Given the description of an element on the screen output the (x, y) to click on. 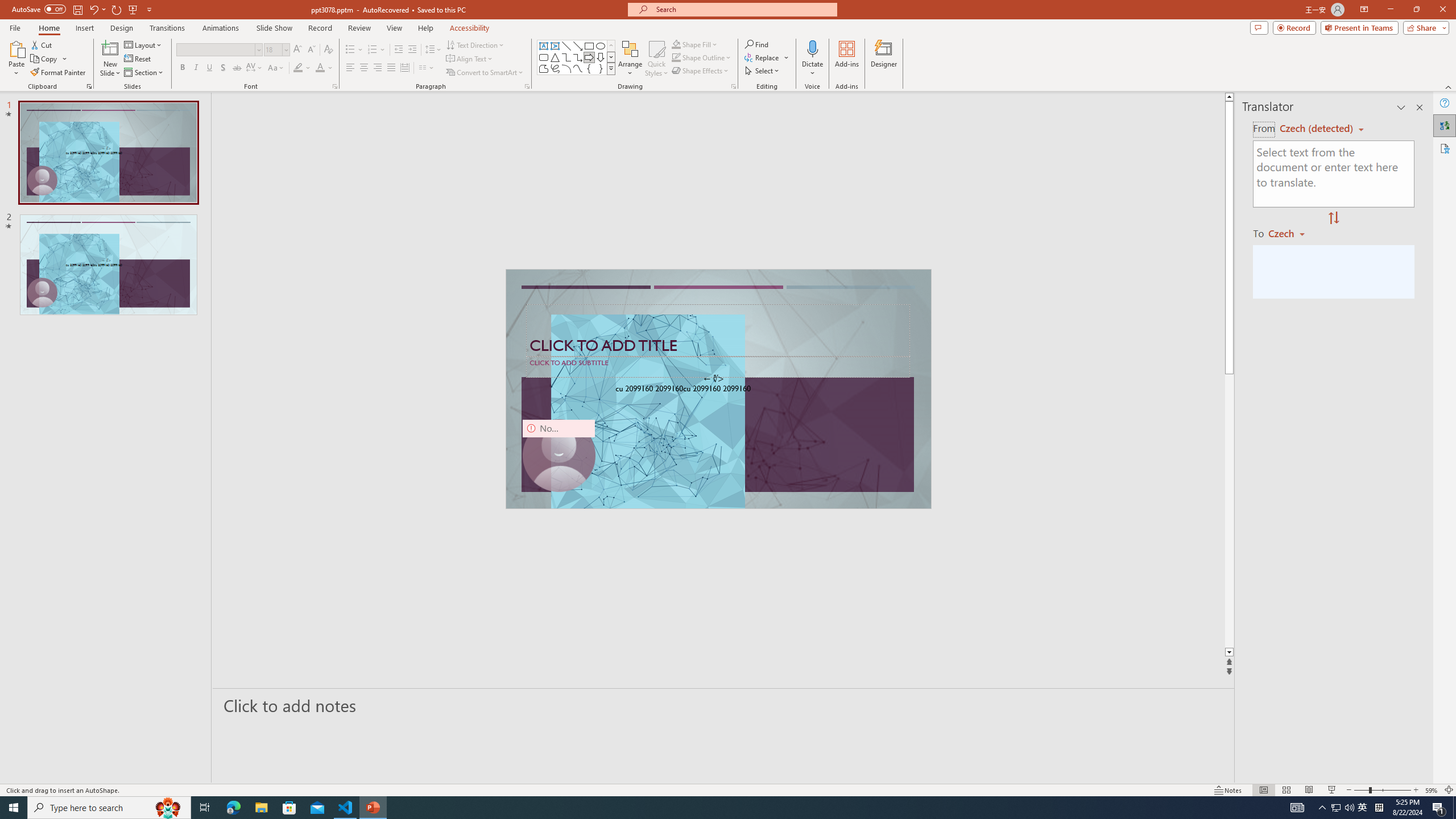
TextBox 7 (713, 378)
